Given the description of an element on the screen output the (x, y) to click on. 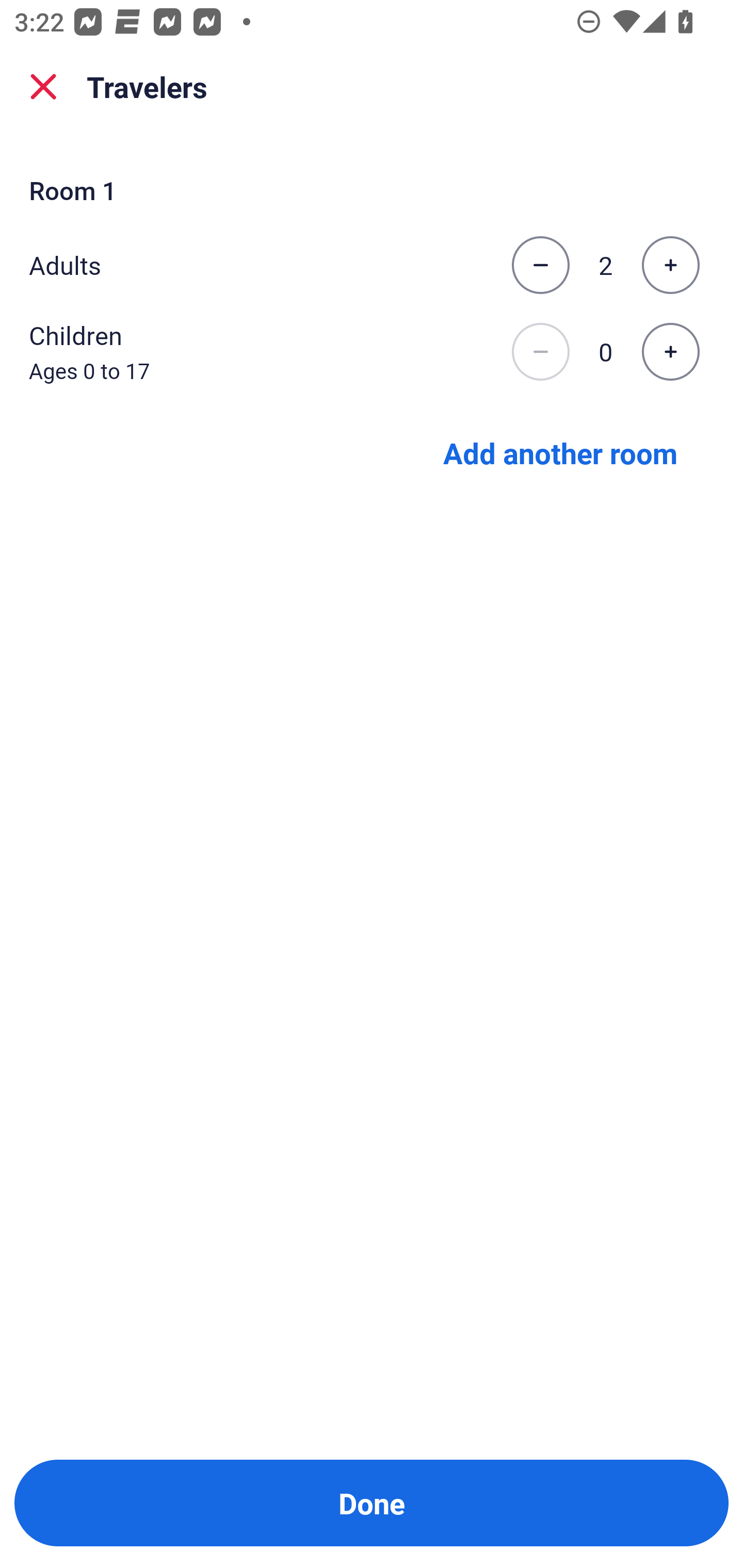
close (43, 86)
Decrease the number of adults (540, 264)
Increase the number of adults (670, 264)
Decrease the number of children (540, 351)
Increase the number of children (670, 351)
Add another room (560, 452)
Done (371, 1502)
